Given the description of an element on the screen output the (x, y) to click on. 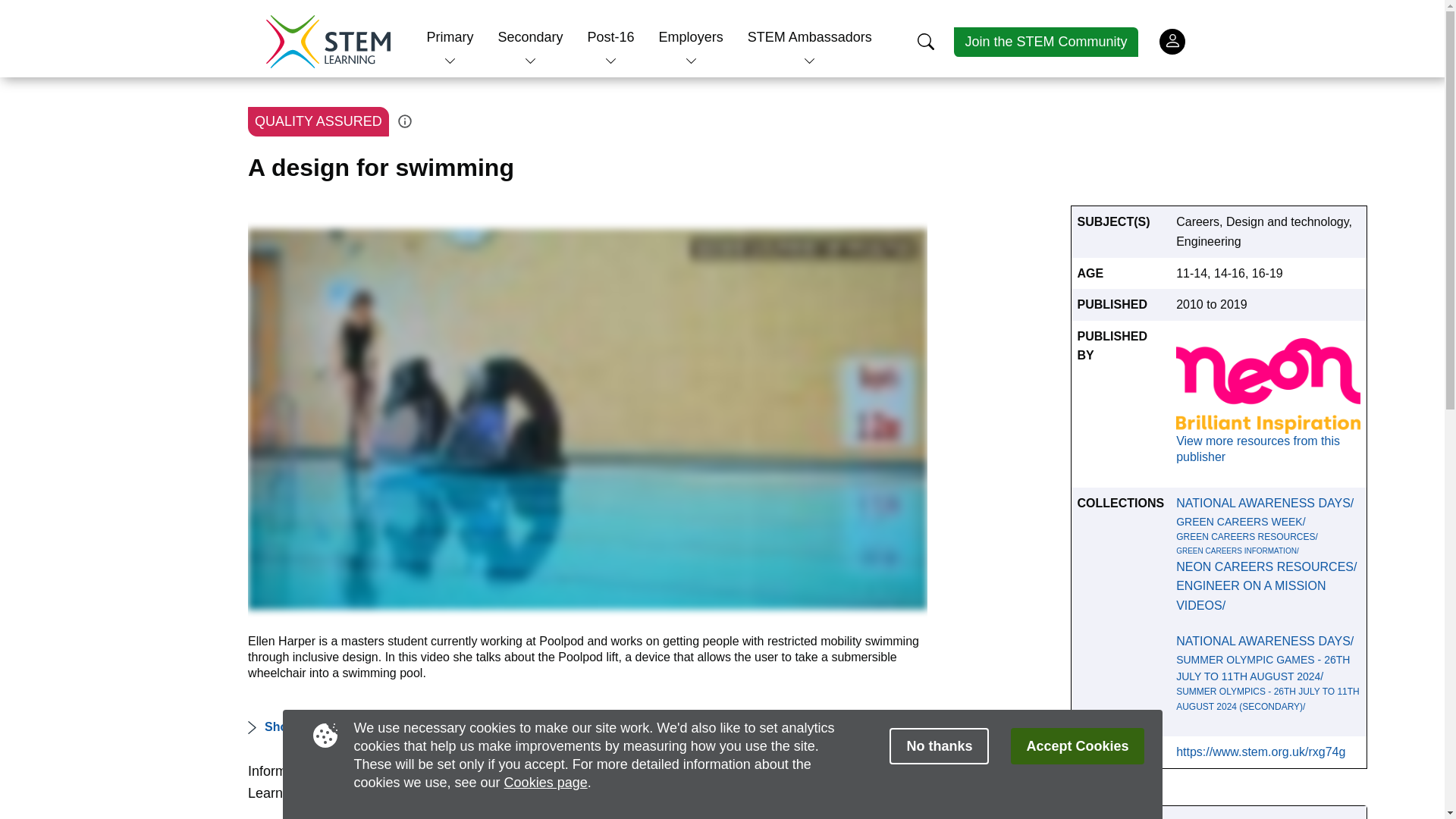
Employers (691, 37)
Secondary (529, 37)
STEM Ambassadors (810, 37)
Primary (449, 37)
Home (327, 40)
Post-16 (611, 37)
